Given the description of an element on the screen output the (x, y) to click on. 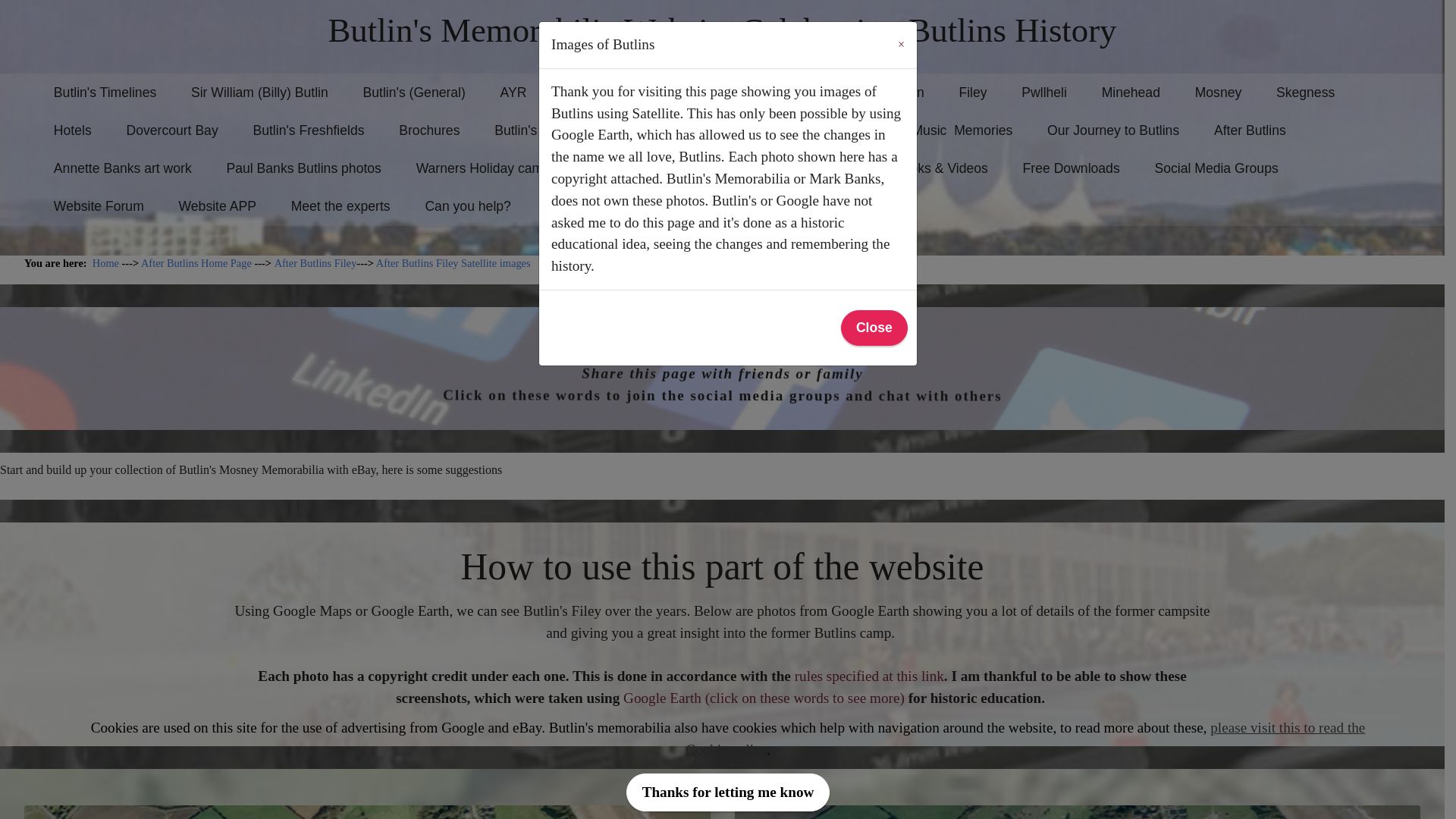
Our Journey to Butlins (1113, 130)
Can you help?  (469, 206)
Butlin's Freshfields (308, 130)
Paul Banks Butlins photos (303, 168)
Butlin's Clubs (534, 130)
Untold Stories of Butlins (680, 130)
Website Forum (98, 206)
How my story of collecting started (648, 206)
Butlin's Timelines (104, 92)
Meet the experts (340, 206)
